Given the description of an element on the screen output the (x, y) to click on. 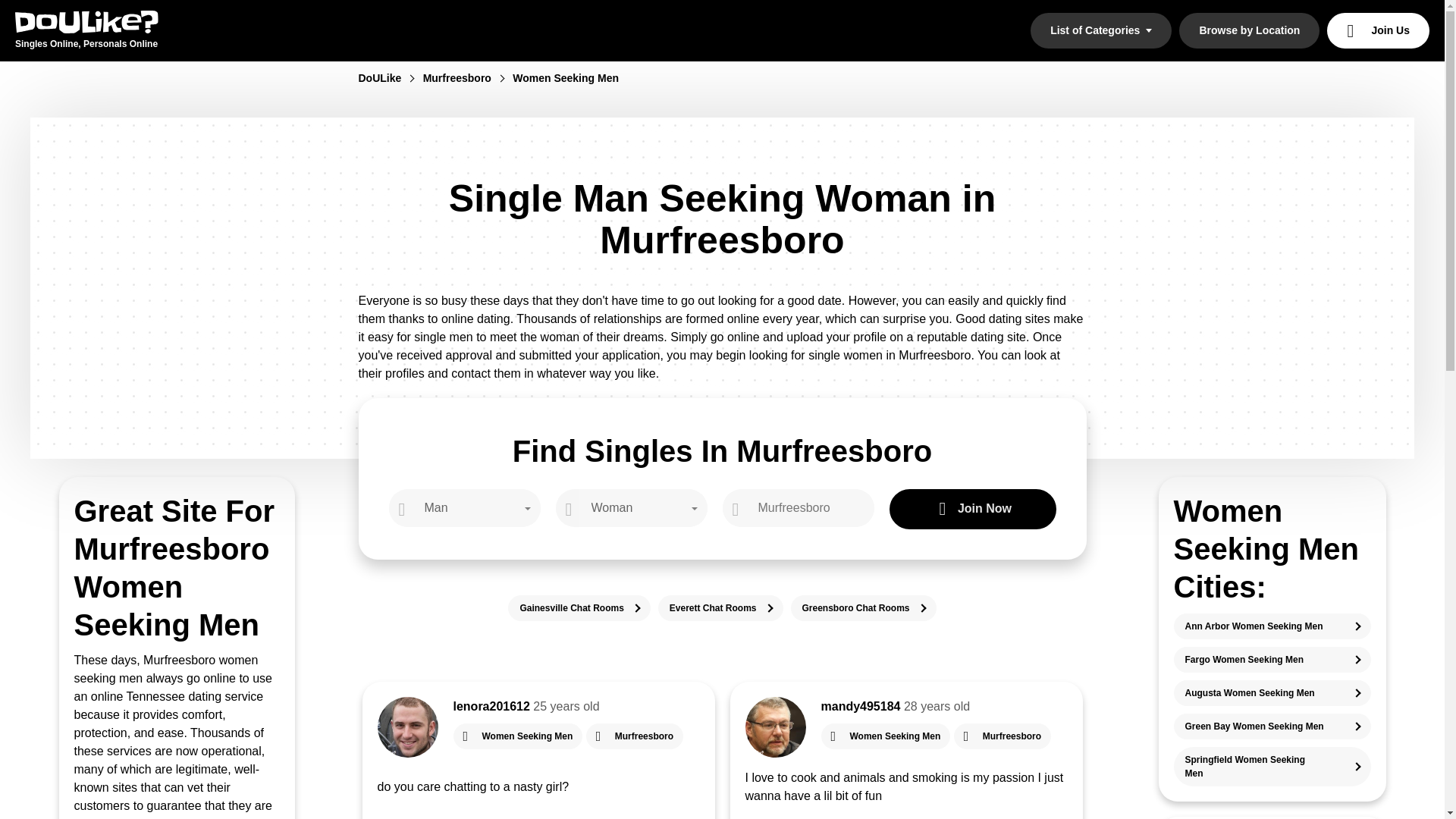
Join Now (971, 508)
Greensboro Chat Rooms (863, 607)
Gainesville Chat Rooms (578, 607)
DoULike (388, 78)
lenora201612 (490, 706)
Join Us (1377, 30)
Murfreesboro (466, 78)
Everett Chat Rooms (720, 607)
Murfreesboro (634, 736)
Murfreesboro (1002, 736)
Browse by Location (1249, 30)
mandy495184 (860, 706)
